Given the description of an element on the screen output the (x, y) to click on. 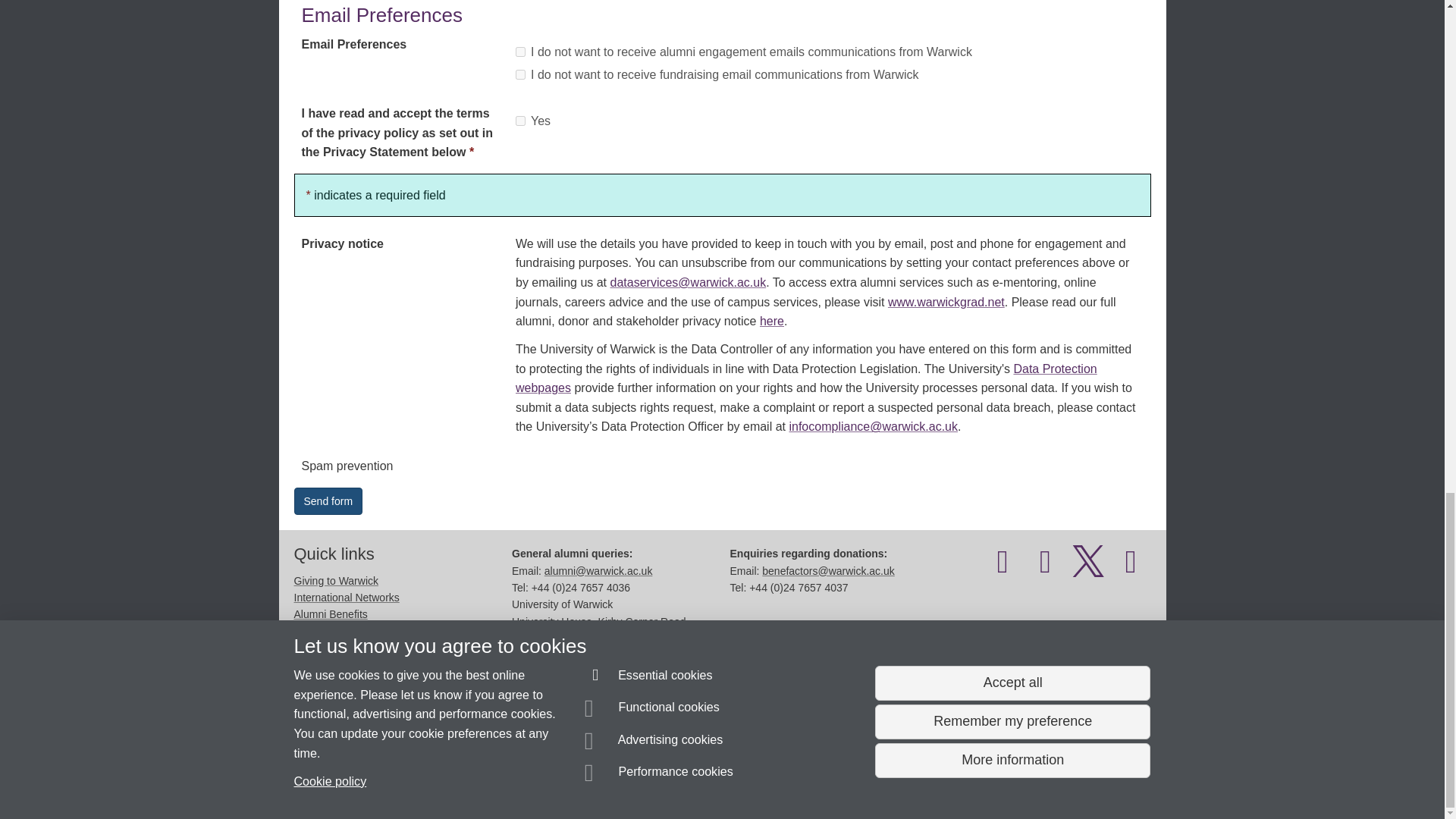
More information about SiteBuilder (365, 780)
Terms of use (708, 780)
Privacy notice (673, 780)
Send an email to dataservices Resource (398, 751)
0-yes (520, 121)
Copyright Statement (514, 780)
Warwick Alumni on LinkedIn (1130, 568)
Send form (328, 501)
Warwick Alumni on Twitter (1088, 568)
